Given the description of an element on the screen output the (x, y) to click on. 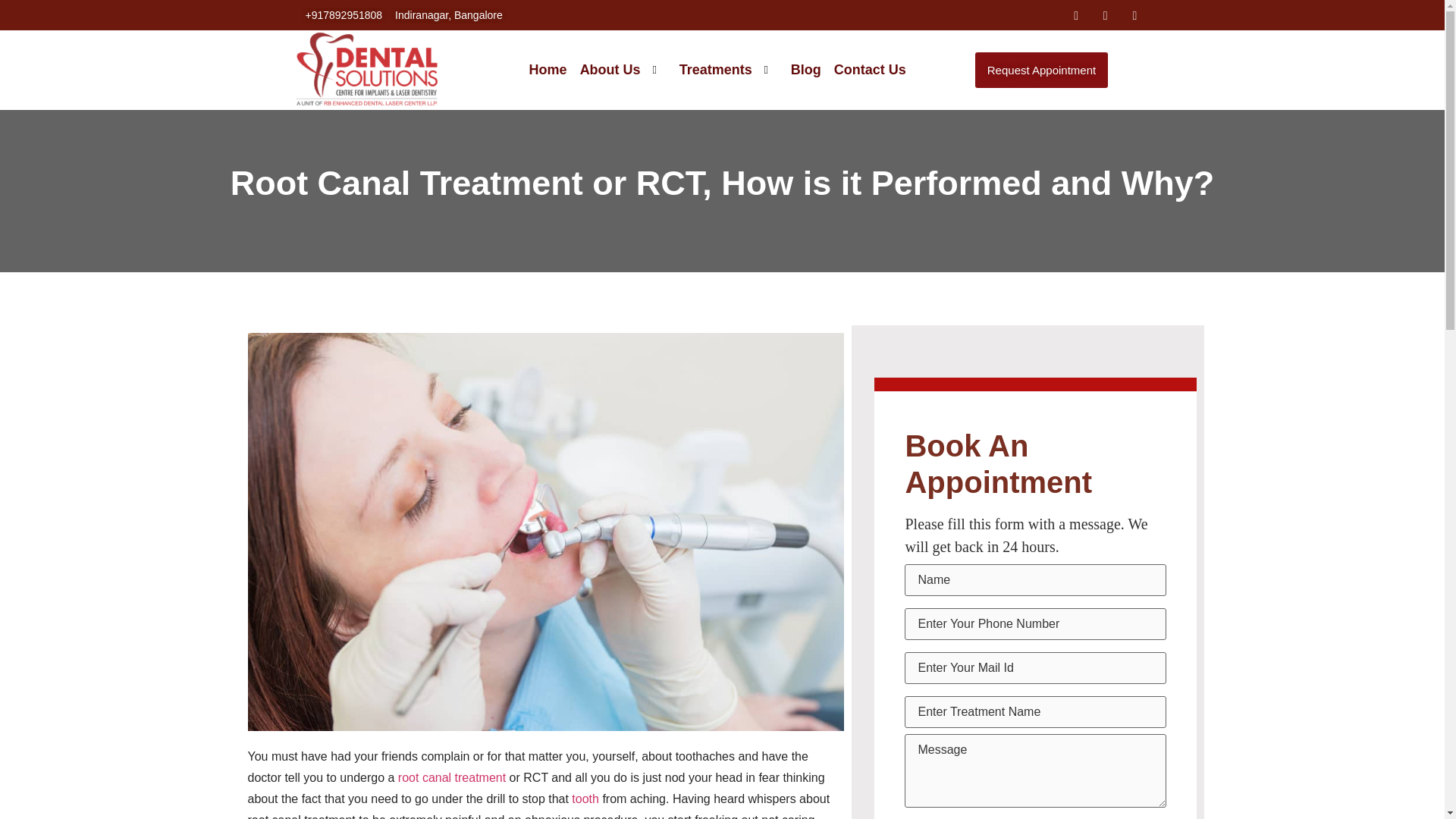
Posts tagged with root canal (320, 182)
Posts tagged with root canal treatment (451, 777)
Home (541, 70)
Treatments (721, 70)
About Us (616, 70)
Posts tagged with rct (669, 182)
Posts tagged with tooth (585, 798)
